Given the description of an element on the screen output the (x, y) to click on. 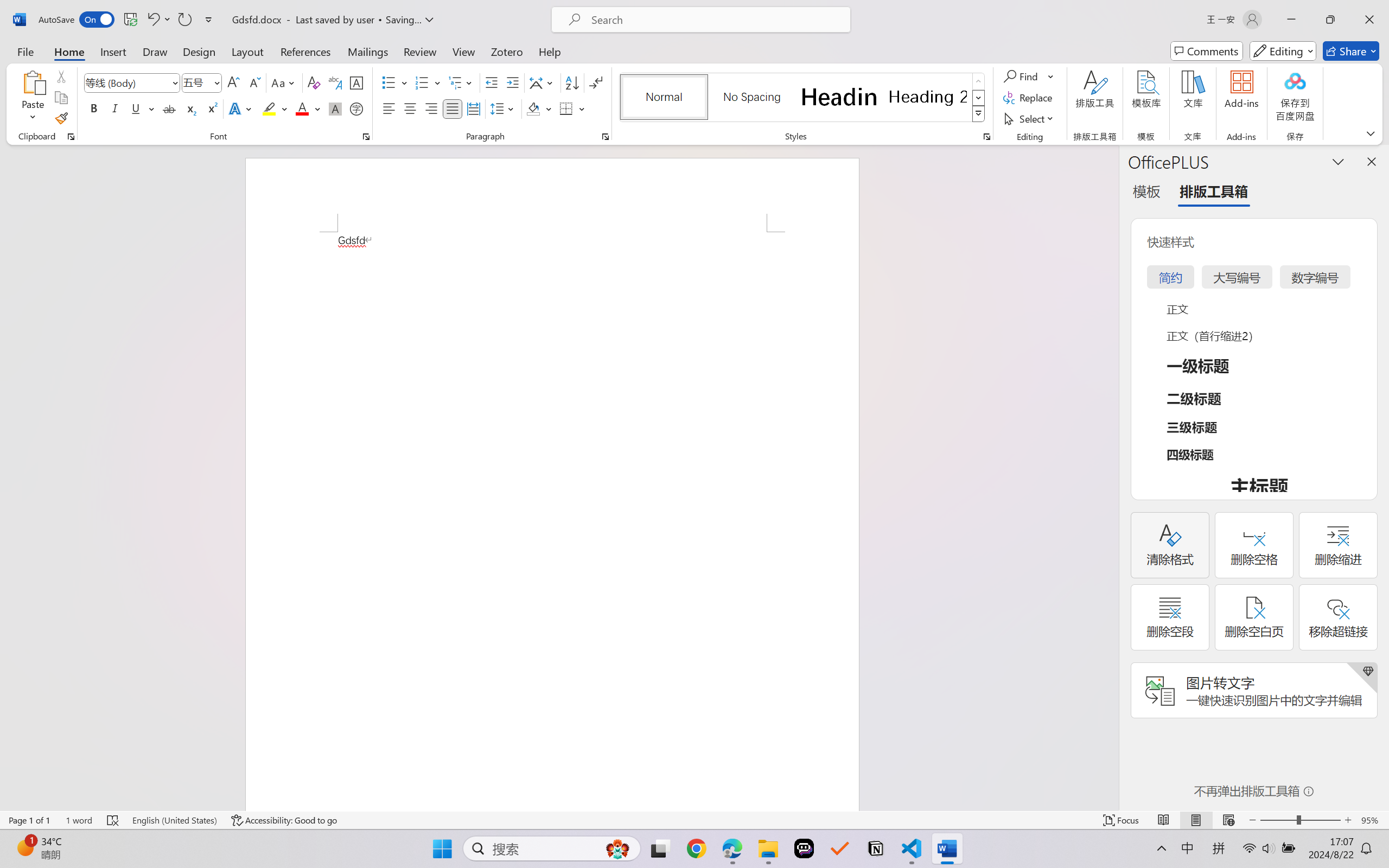
Task Pane Options (1338, 161)
Class: MsoCommandBar (694, 819)
